Given the description of an element on the screen output the (x, y) to click on. 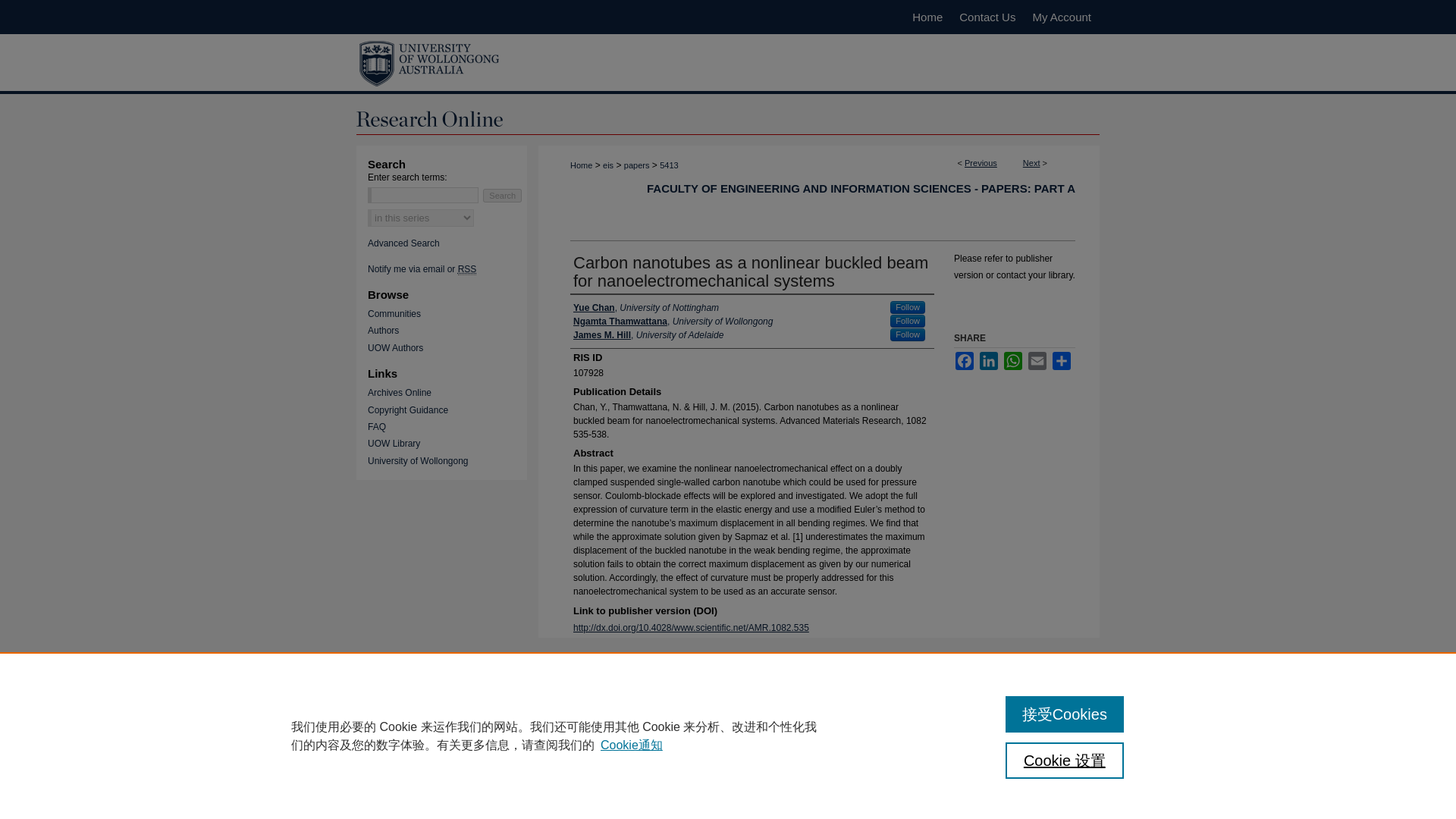
Next (1032, 162)
Advanced Search (403, 243)
Really Simple Syndication (467, 269)
My Account (1061, 17)
Follow (906, 334)
Home (581, 164)
Contact Us (986, 17)
Email (1037, 361)
Home (927, 17)
Notify me via email or RSS (453, 268)
WhatsApp (1013, 361)
Research Online (727, 114)
Follow (906, 320)
Yue Chan, University of Nottingham (646, 307)
Follow (906, 307)
